Given the description of an element on the screen output the (x, y) to click on. 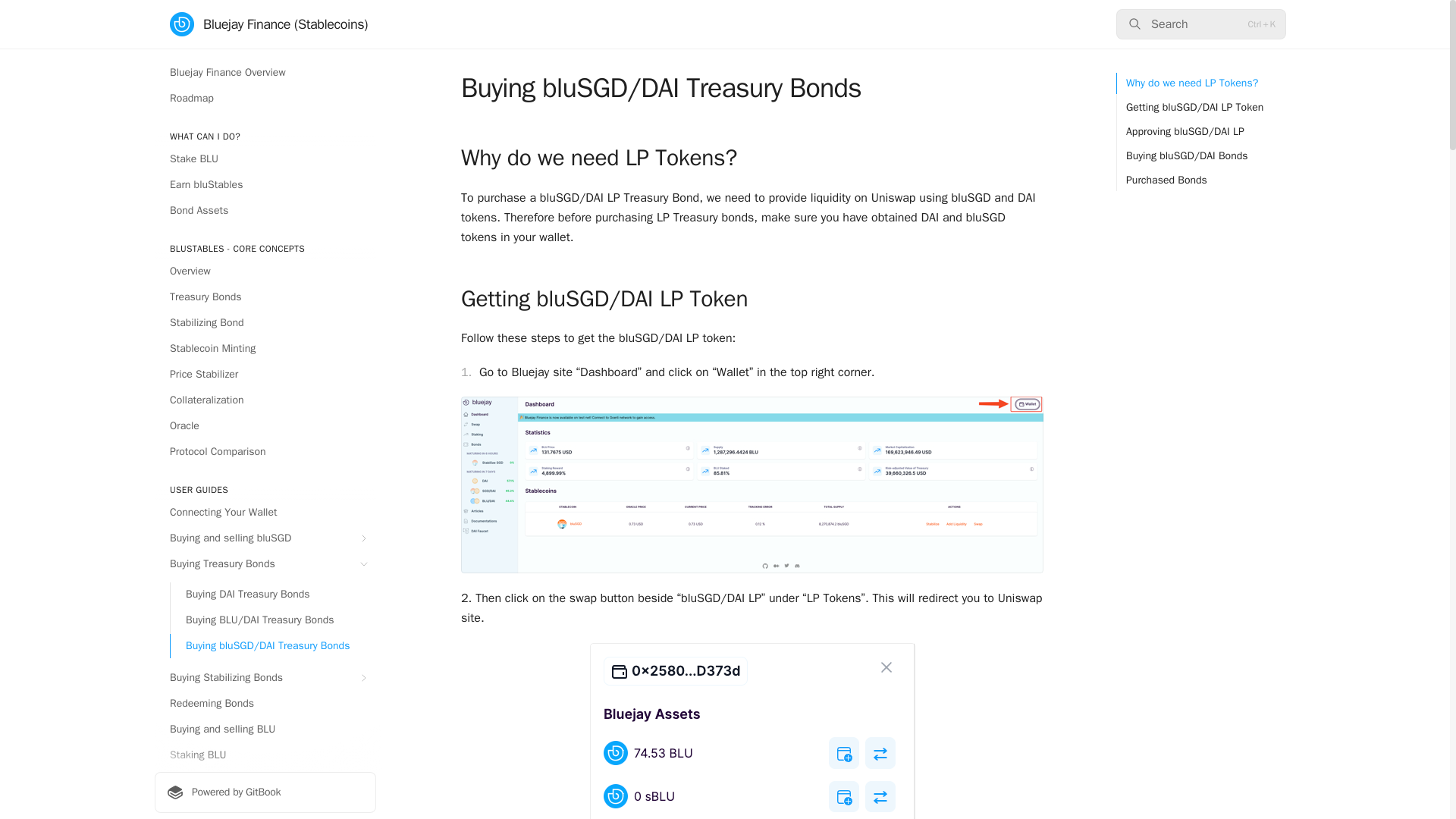
Redeeming Bonds (264, 703)
Oracle (264, 426)
Frequently Asked Questions (264, 806)
Protocol Comparison (264, 451)
Staking BLU (264, 754)
Buying Stabilizing Bonds (264, 677)
Price Stabilizer (264, 374)
Opening Support Ticket on Discord (264, 781)
Bluejay Finance Overview (264, 72)
Bond Assets (264, 210)
Stabilizing Bond (264, 322)
Stake BLU (264, 159)
Connecting Your Wallet (264, 512)
Buying Treasury Bonds (264, 564)
Collateralization (264, 400)
